Given the description of an element on the screen output the (x, y) to click on. 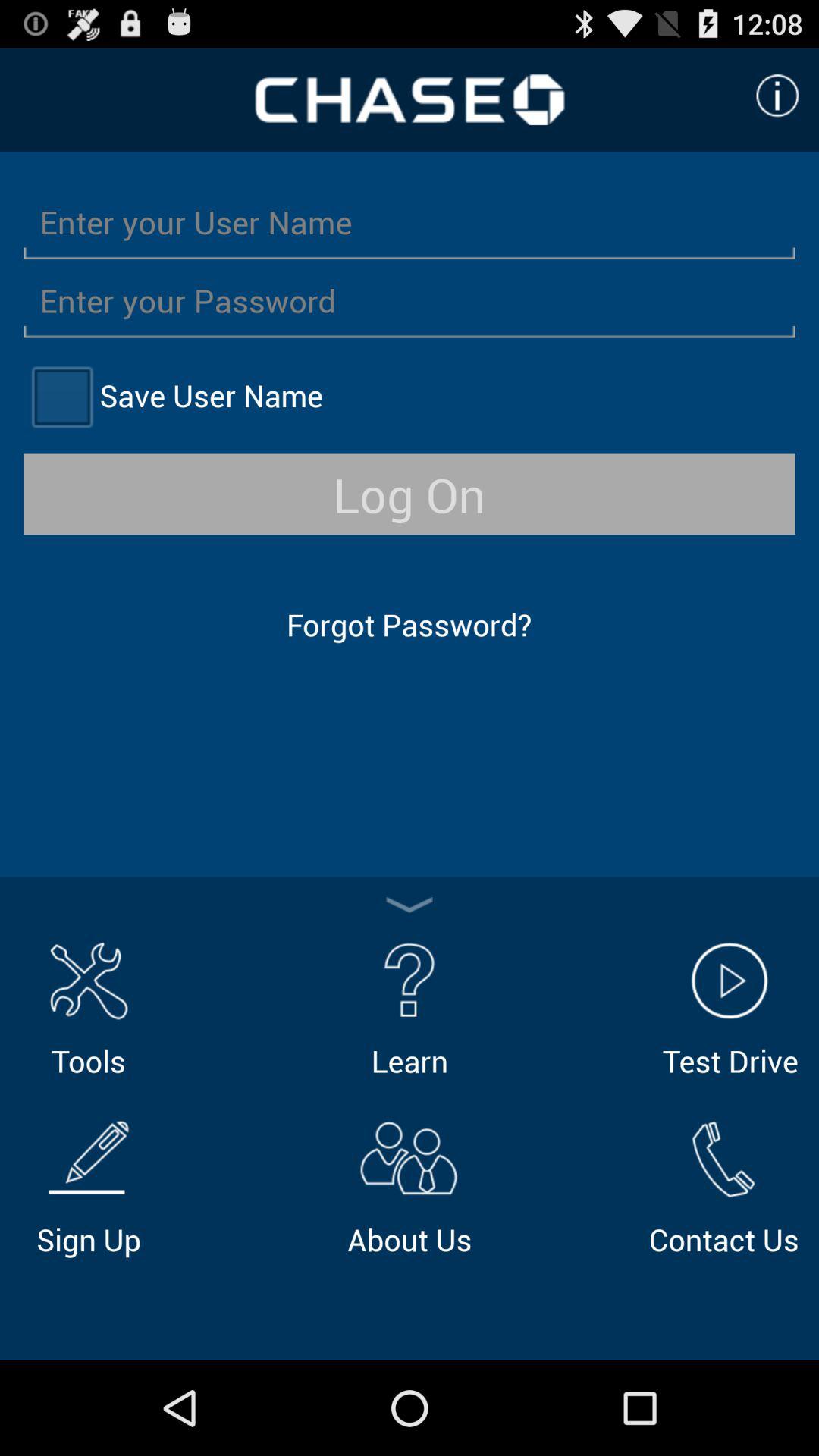
choose the item next to the sign up item (409, 1185)
